Given the description of an element on the screen output the (x, y) to click on. 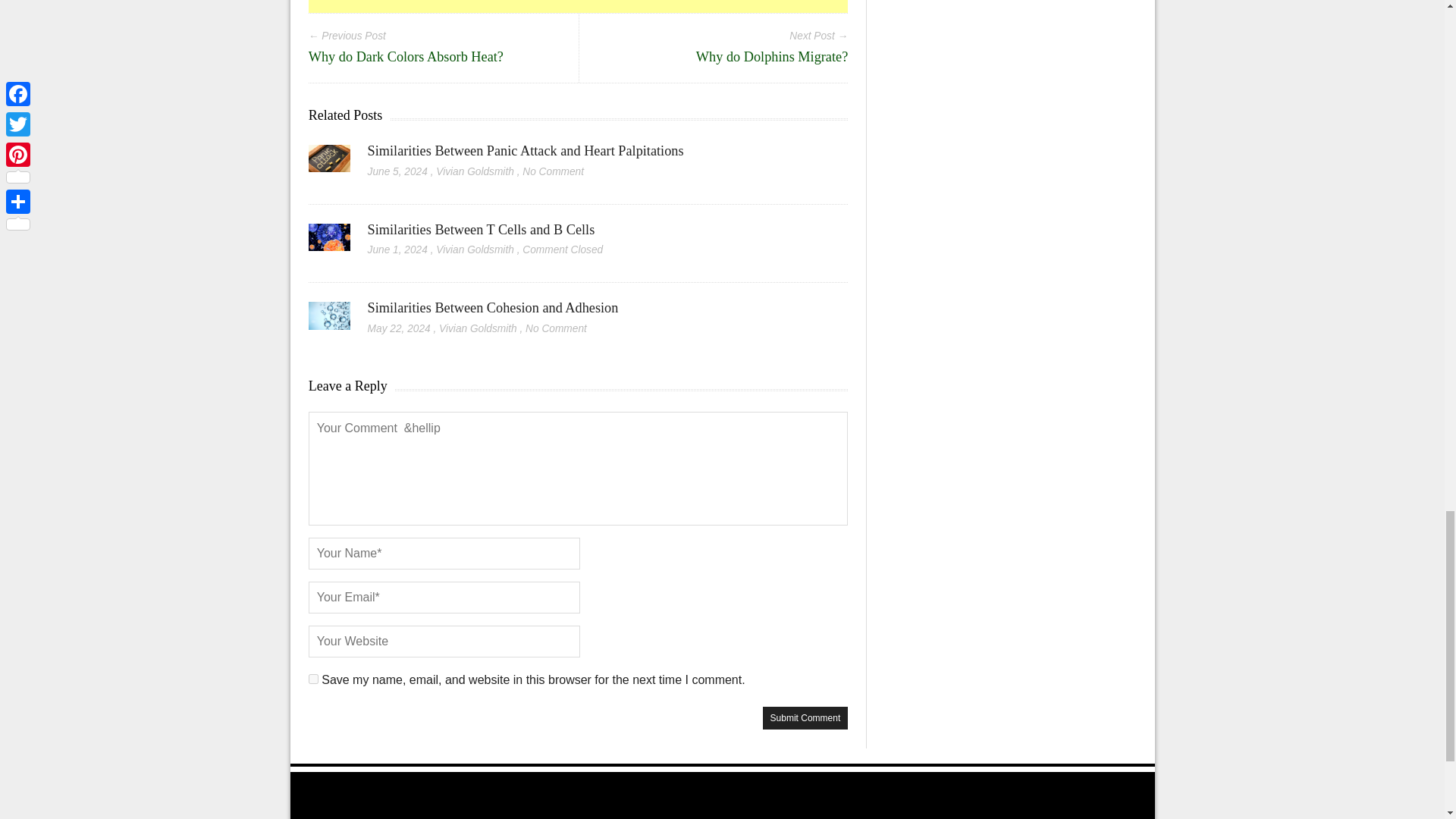
Vivian Goldsmith (474, 170)
Submit Comment (805, 717)
No Comment (552, 170)
Similarities Between Panic Attack and Heart Palpitations (329, 163)
Similarities Between T Cells and B Cells (329, 243)
Similarities Between Panic Attack and Heart Palpitations (526, 150)
Similarities Between Panic Attack and Heart Palpitations (526, 150)
Vivian Goldsmith (474, 249)
yes (313, 678)
Similarities Between T Cells and B Cells (481, 229)
